Given the description of an element on the screen output the (x, y) to click on. 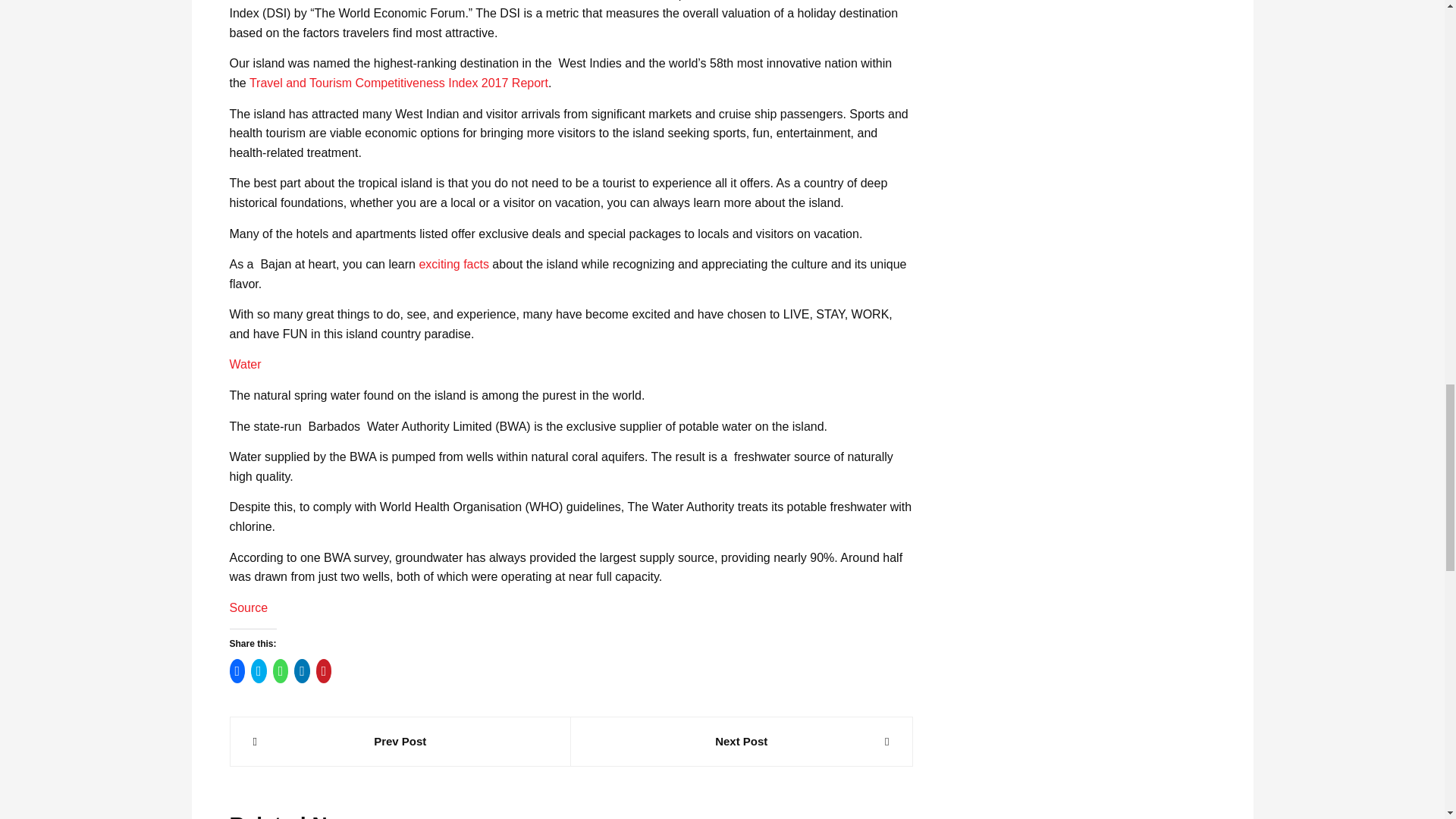
exciting facts (453, 264)
Next Post (741, 741)
Prev Post (400, 741)
Water (244, 364)
Source (247, 607)
Travel and Tourism Competitiveness Index 2017 Report (398, 82)
